Given the description of an element on the screen output the (x, y) to click on. 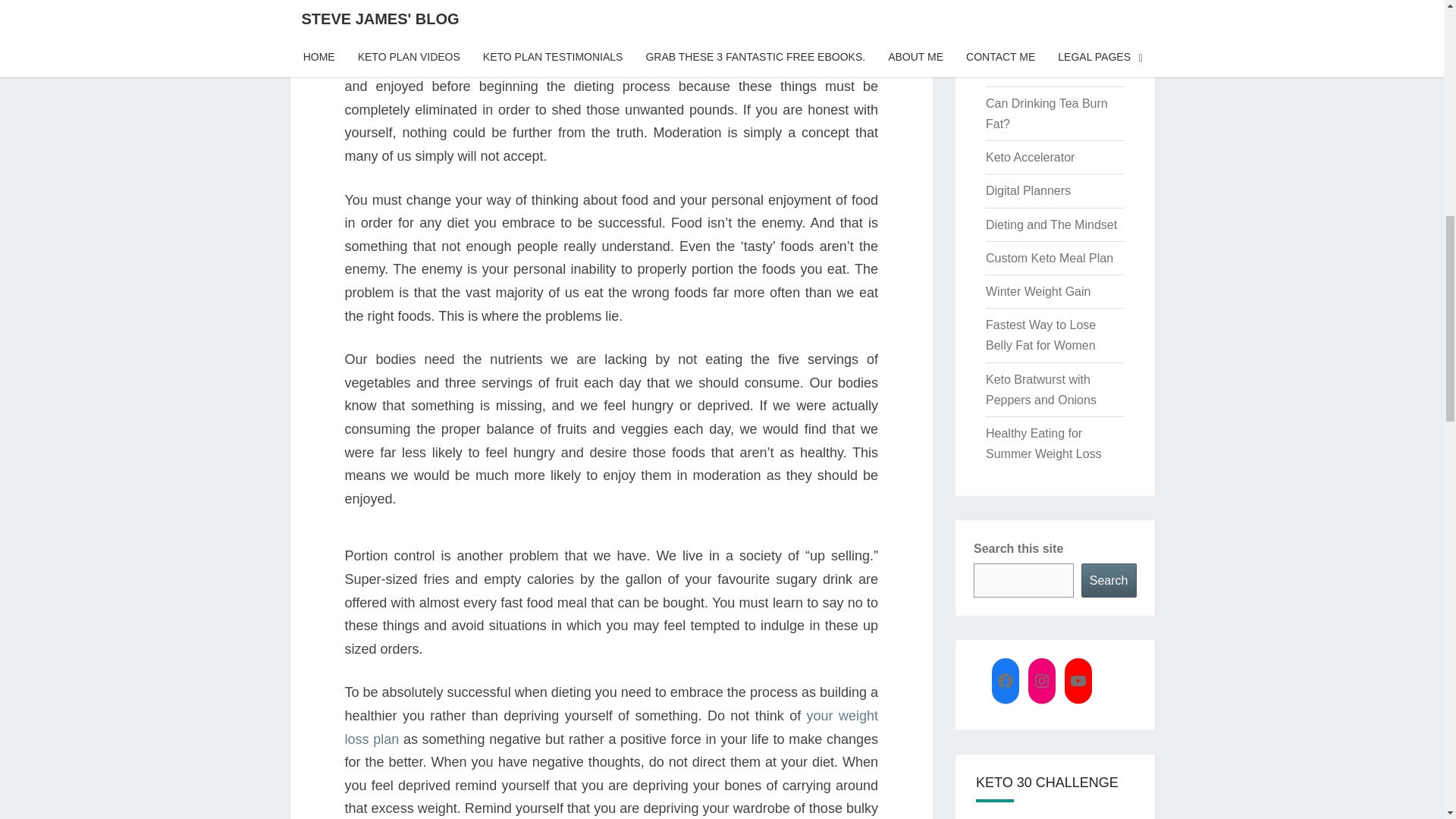
Digital Planners (1027, 190)
Keto Accelerator (1029, 156)
Fastest Way to Lose Belly Fat for Women (1040, 335)
Dieting and The Mindset (1050, 224)
How To Lose Weight and Keep It Off (1044, 59)
Can Drinking Tea Burn Fat? (1046, 113)
Winter Weight Gain (1037, 291)
Custom Keto Meal Plan (1049, 257)
your weight loss plan (610, 727)
